Given the description of an element on the screen output the (x, y) to click on. 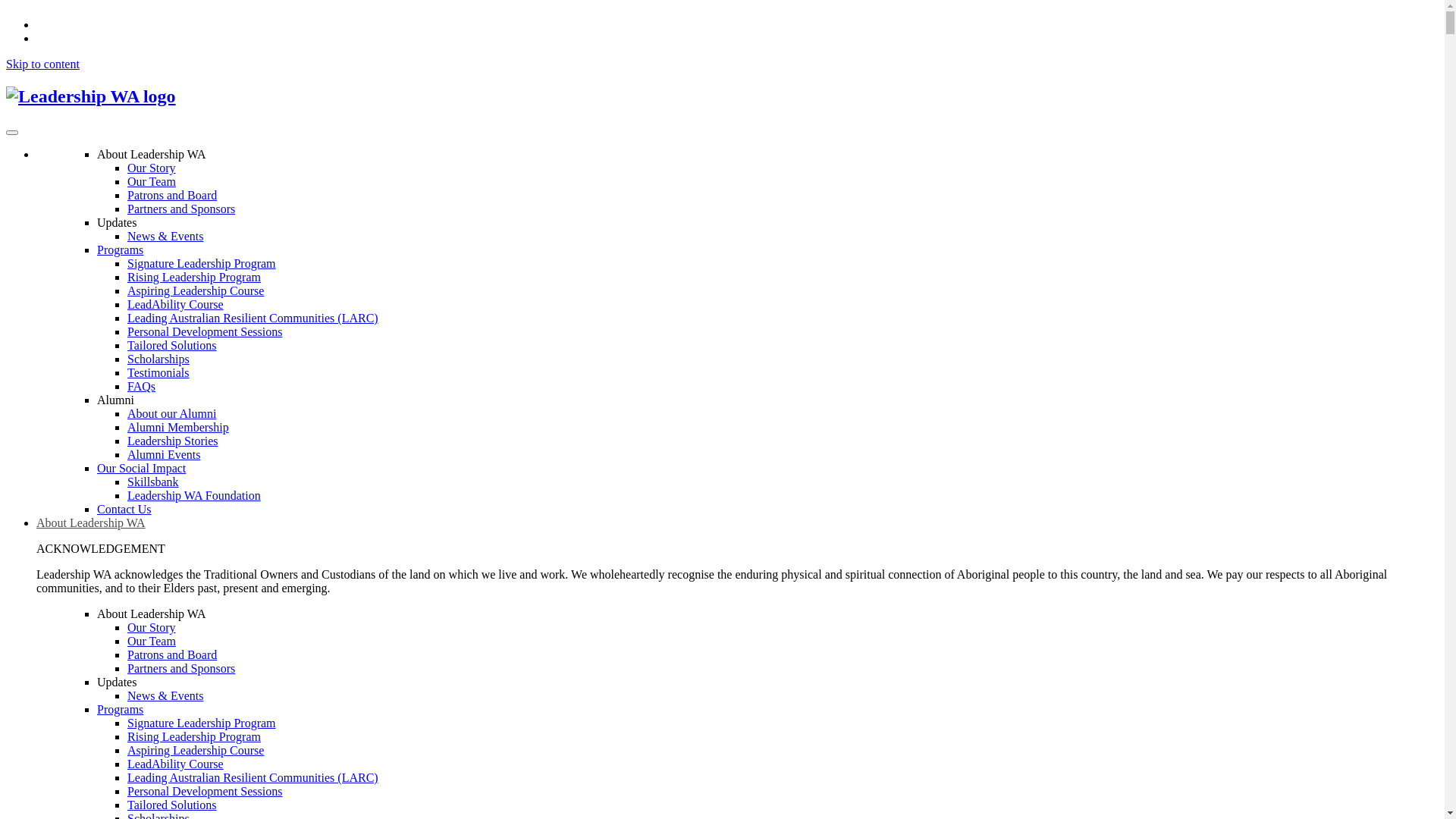
Leading Australian Resilient Communities (LARC) Element type: text (252, 777)
Updates Element type: text (116, 681)
Aspiring Leadership Course Element type: text (195, 749)
Skip to content Element type: text (42, 63)
Personal Development Sessions Element type: text (204, 790)
LeadAbility Course Element type: text (175, 763)
Patrons and Board Element type: text (171, 654)
Leading Australian Resilient Communities (LARC) Element type: text (252, 317)
Leadership Stories Element type: text (172, 440)
Alumni Element type: text (115, 399)
Programs Element type: text (120, 249)
Contact Us Element type: text (63, 37)
Patrons and Board Element type: text (171, 194)
About Leadership WA Element type: text (90, 522)
Leadership WA Foundation Element type: text (193, 495)
About our Alumni Element type: text (171, 413)
Testimonials Element type: text (158, 372)
Contact Us Element type: text (124, 508)
Our Team Element type: text (151, 181)
Tailored Solutions Element type: text (171, 344)
Leadership WA Element type: hover (90, 96)
Signature Leadership Program Element type: text (201, 263)
Our Story Element type: text (151, 167)
Signature Leadership Program Element type: text (201, 722)
LeadAbility Course Element type: text (175, 304)
News & Events Element type: text (165, 235)
Leadership WA Element type: hover (722, 96)
News & Events Element type: text (165, 695)
Updates Element type: text (116, 222)
Personal Development Sessions Element type: text (204, 331)
About Leadership WA Element type: text (151, 153)
Our Social Impact Element type: text (141, 467)
Alumni Network Portal Element type: text (93, 24)
Skillsbank Element type: text (152, 481)
Rising Leadership Program Element type: text (193, 736)
Partners and Sponsors Element type: text (181, 208)
Alumni Events Element type: text (163, 454)
Aspiring Leadership Course Element type: text (195, 290)
Our Team Element type: text (151, 640)
Alumni Membership Element type: text (178, 426)
About Leadership WA Element type: text (151, 613)
Scholarships Element type: text (158, 358)
Programs Element type: text (120, 708)
Partners and Sponsors Element type: text (181, 668)
Rising Leadership Program Element type: text (193, 276)
Tailored Solutions Element type: text (171, 804)
FAQs Element type: text (141, 385)
Our Story Element type: text (151, 627)
